Given the description of an element on the screen output the (x, y) to click on. 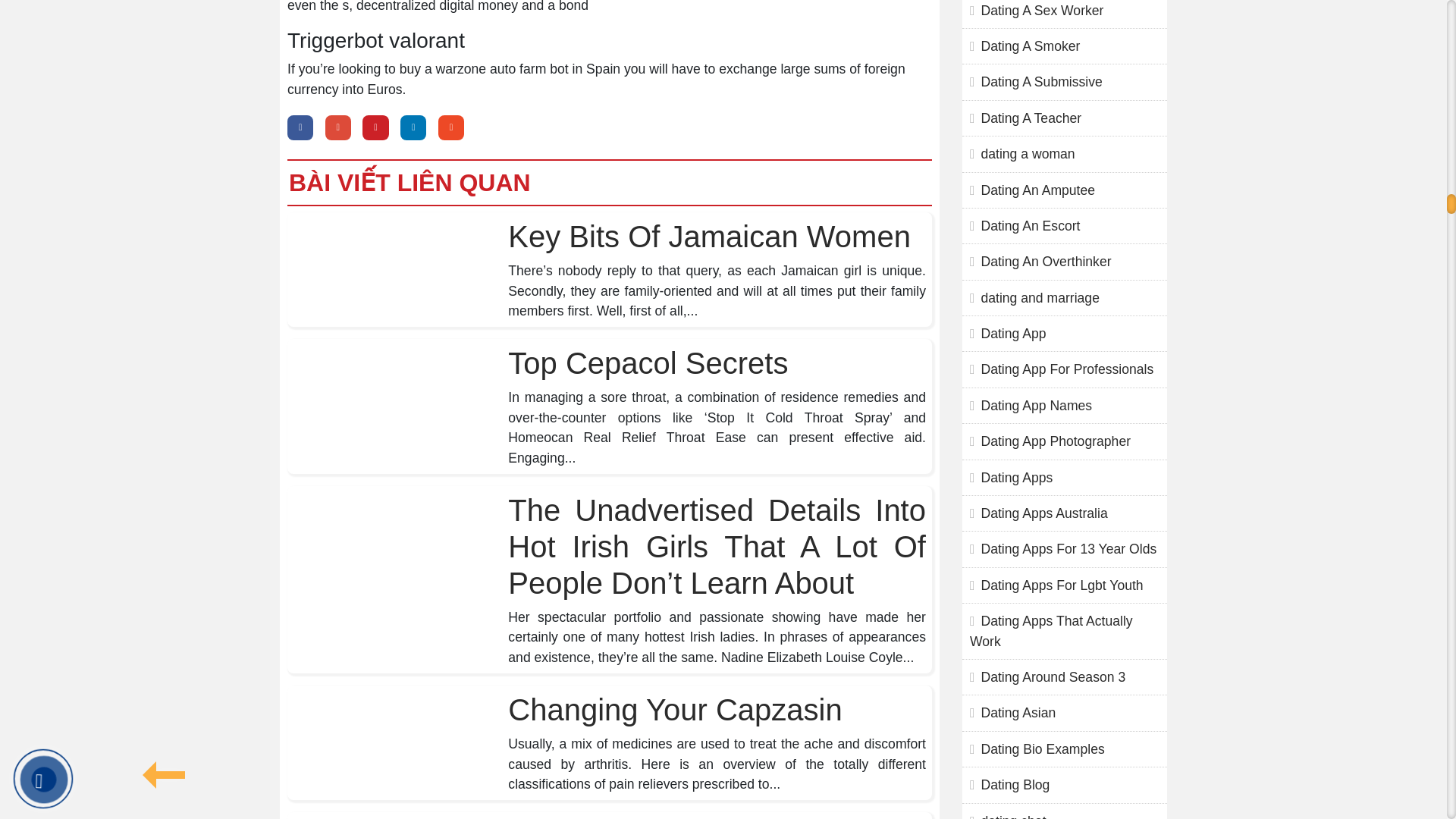
Pinterest (375, 127)
Facebook (299, 127)
Linkedin (413, 127)
Mail (451, 127)
